Given the description of an element on the screen output the (x, y) to click on. 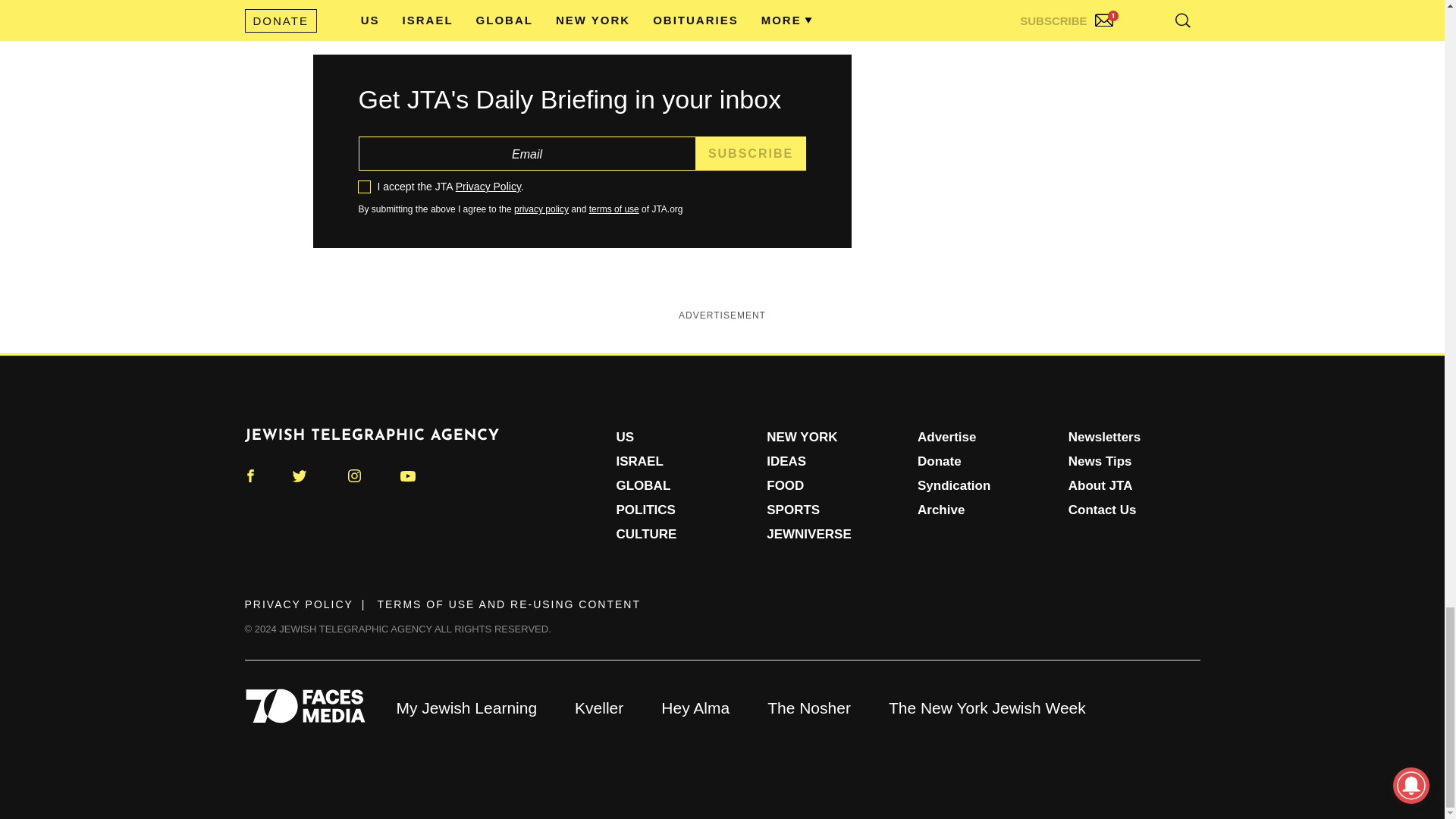
Subscribe (750, 153)
